Given the description of an element on the screen output the (x, y) to click on. 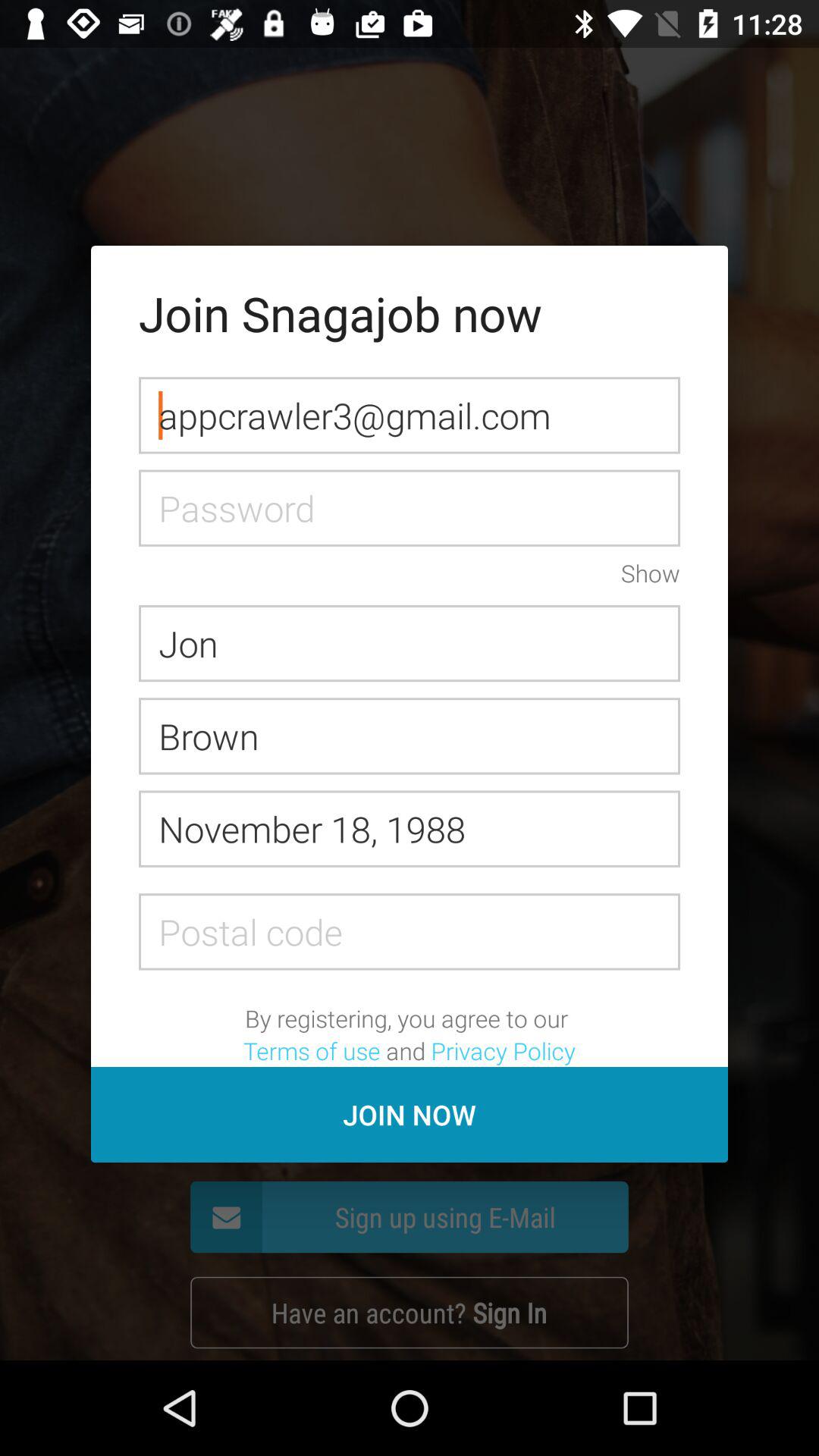
open the secret key (409, 507)
